Given the description of an element on the screen output the (x, y) to click on. 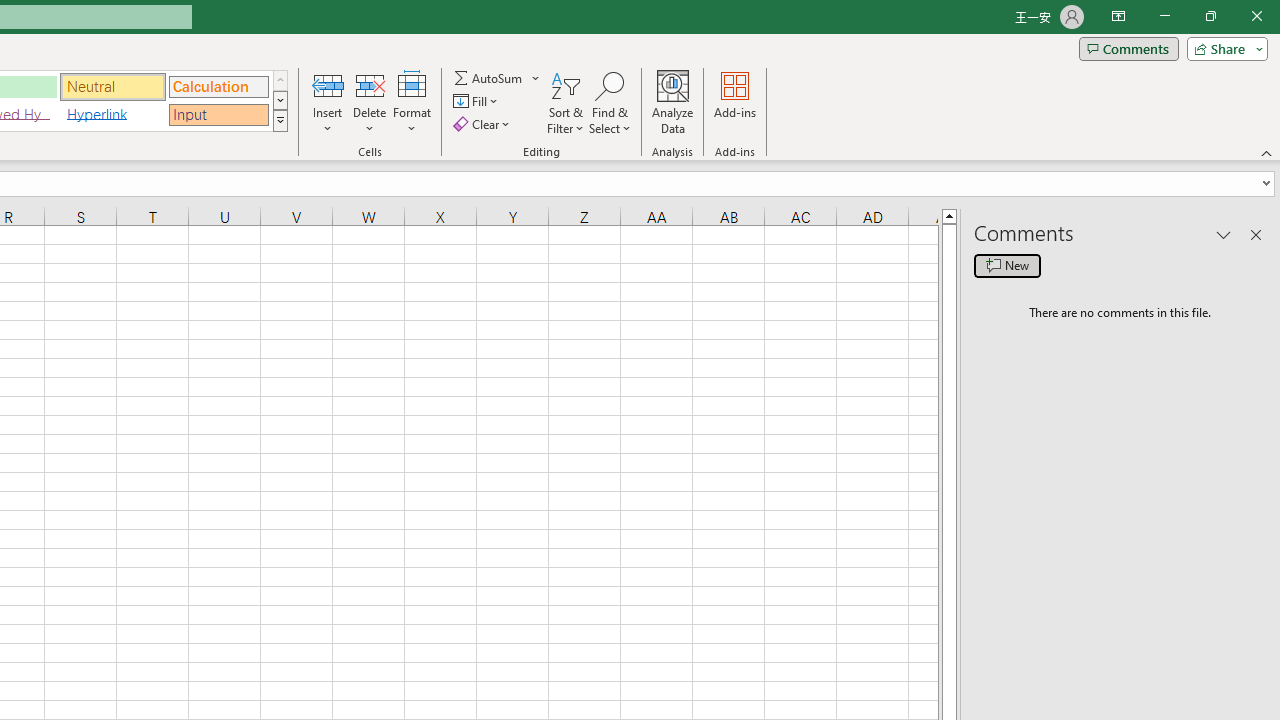
Sort & Filter (566, 102)
Analyze Data (673, 102)
Fill (477, 101)
Collapse the Ribbon (1267, 152)
